Given the description of an element on the screen output the (x, y) to click on. 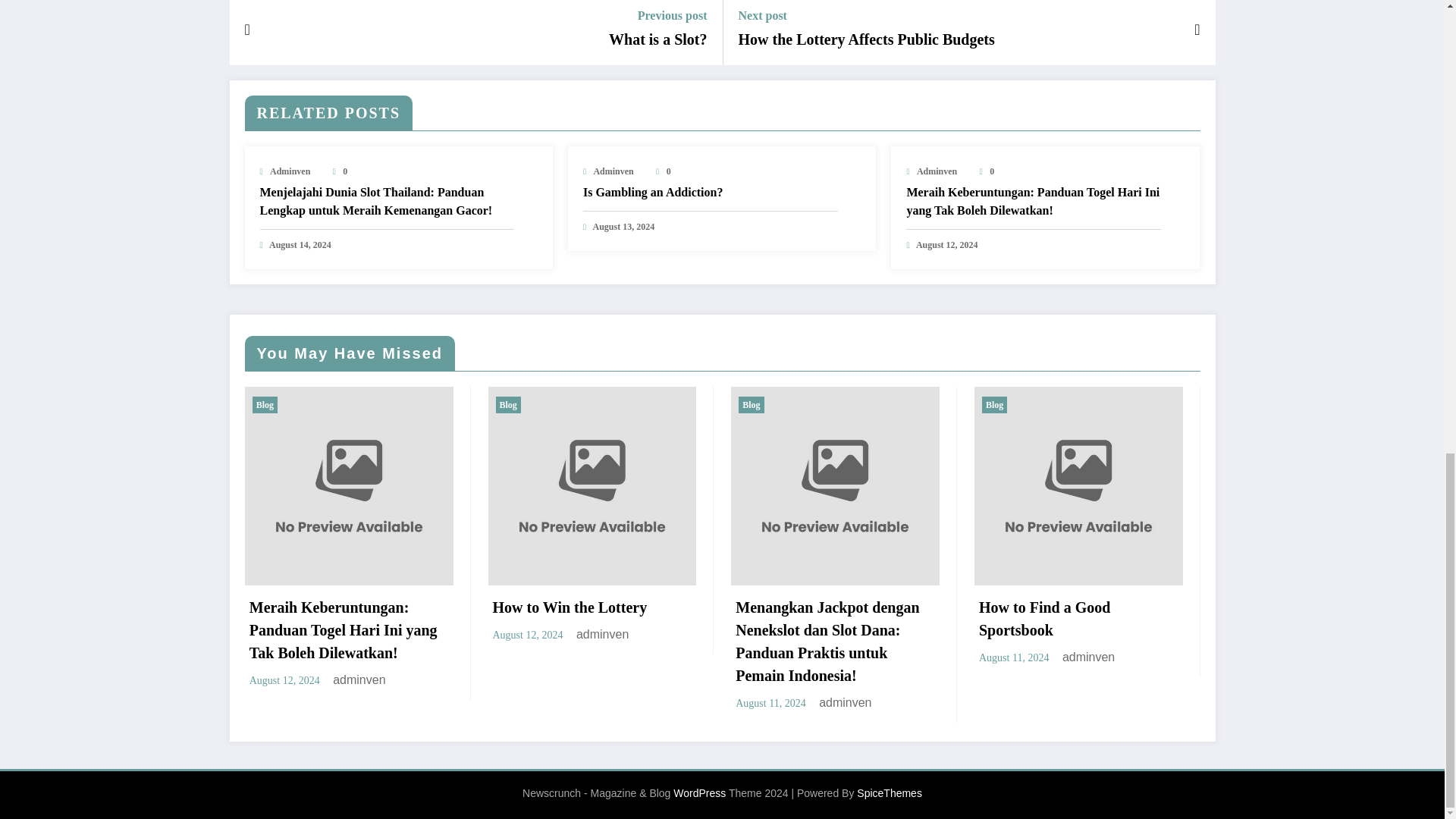
August 12, 2024 (946, 244)
Next post (866, 15)
What is a Slot? (657, 38)
Previous post (657, 15)
August 13, 2024 (622, 226)
August 14, 2024 (300, 244)
Adminven (936, 171)
Adminven (289, 171)
Adminven (612, 171)
